Given the description of an element on the screen output the (x, y) to click on. 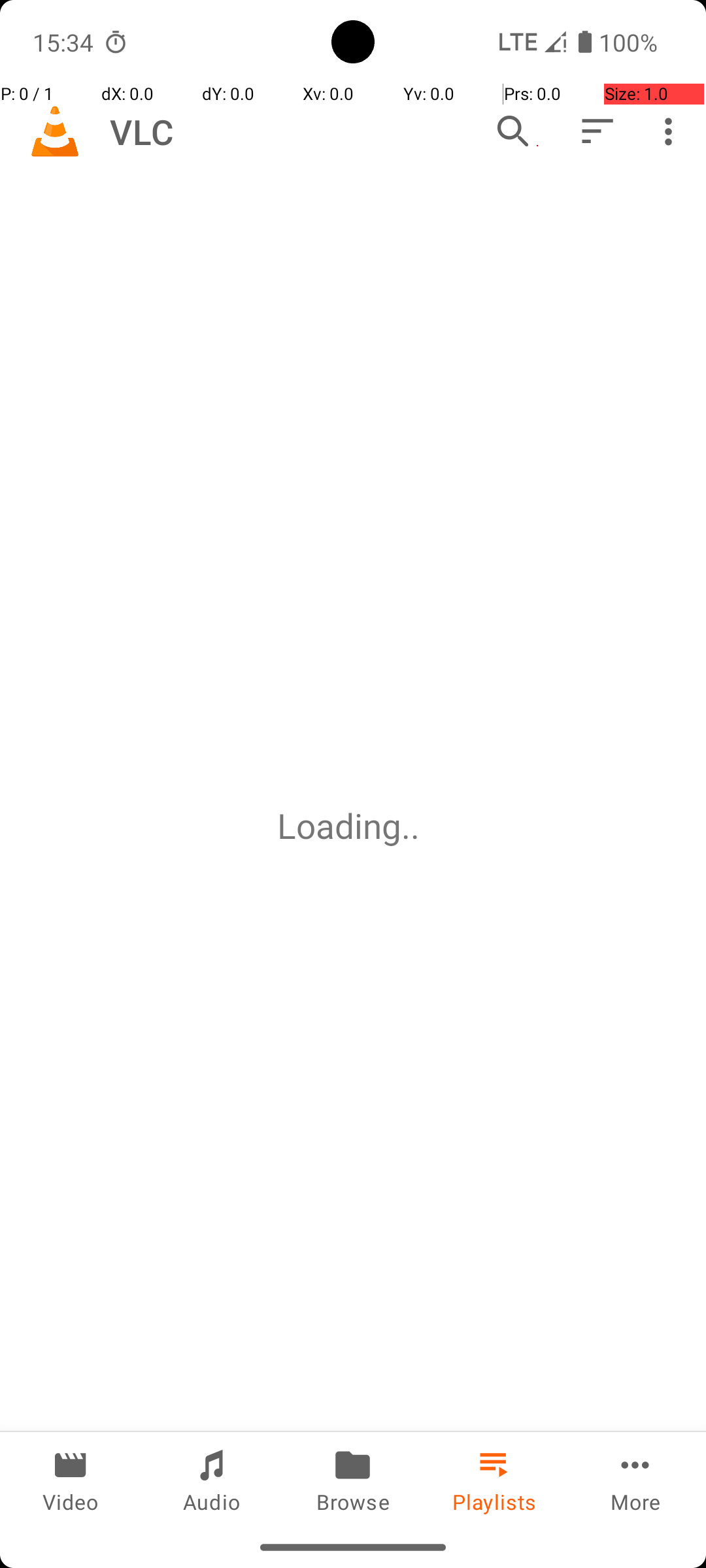
.. Element type: android.widget.TextView (414, 825)
